Given the description of an element on the screen output the (x, y) to click on. 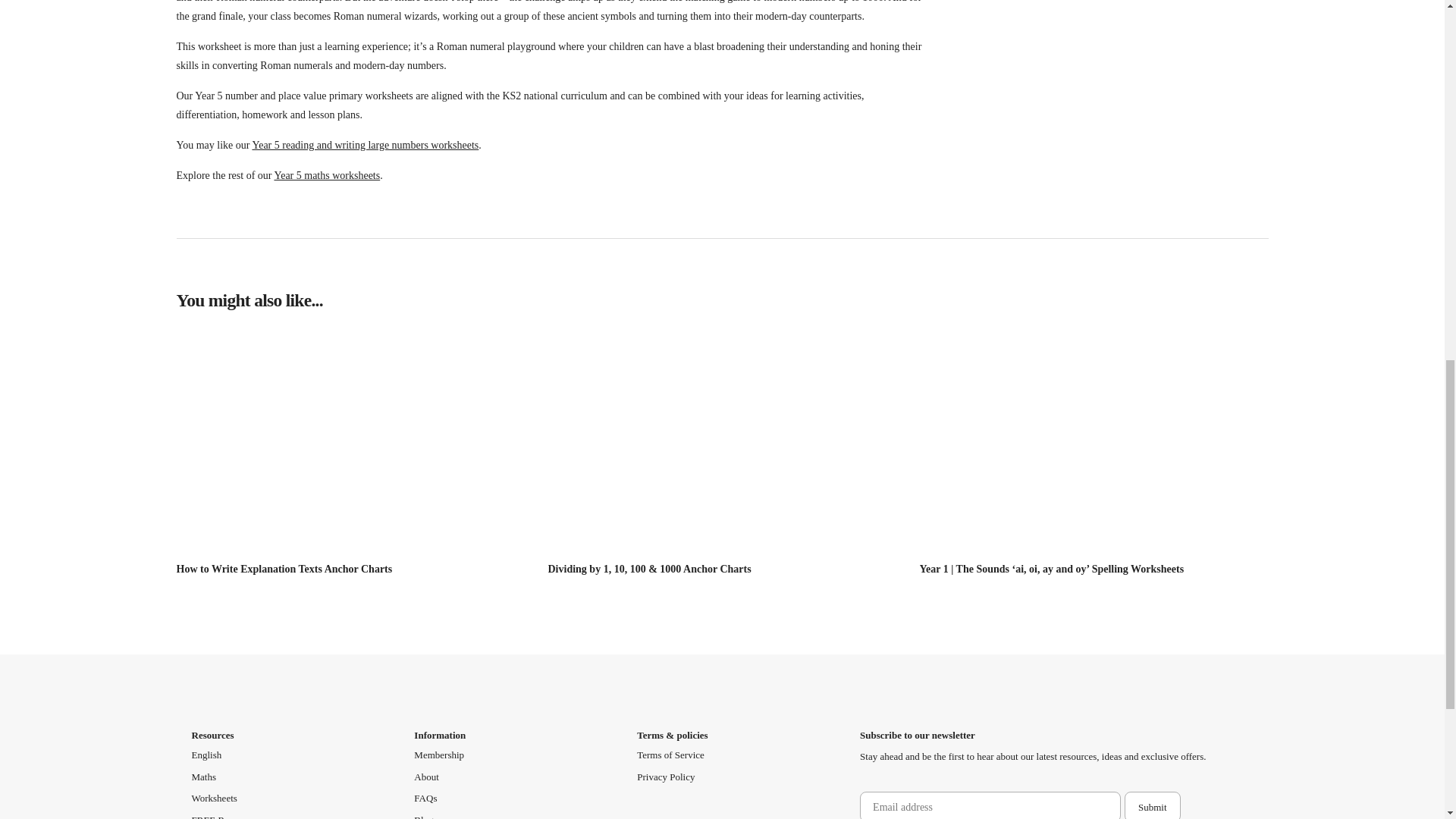
English (205, 754)
Year 5 reading and writing large numbers worksheets (365, 144)
How to Write Explanation Texts Anchor Charts (283, 568)
Maths (202, 776)
Worksheets (212, 798)
Year 5 maths worksheets (326, 174)
